Given the description of an element on the screen output the (x, y) to click on. 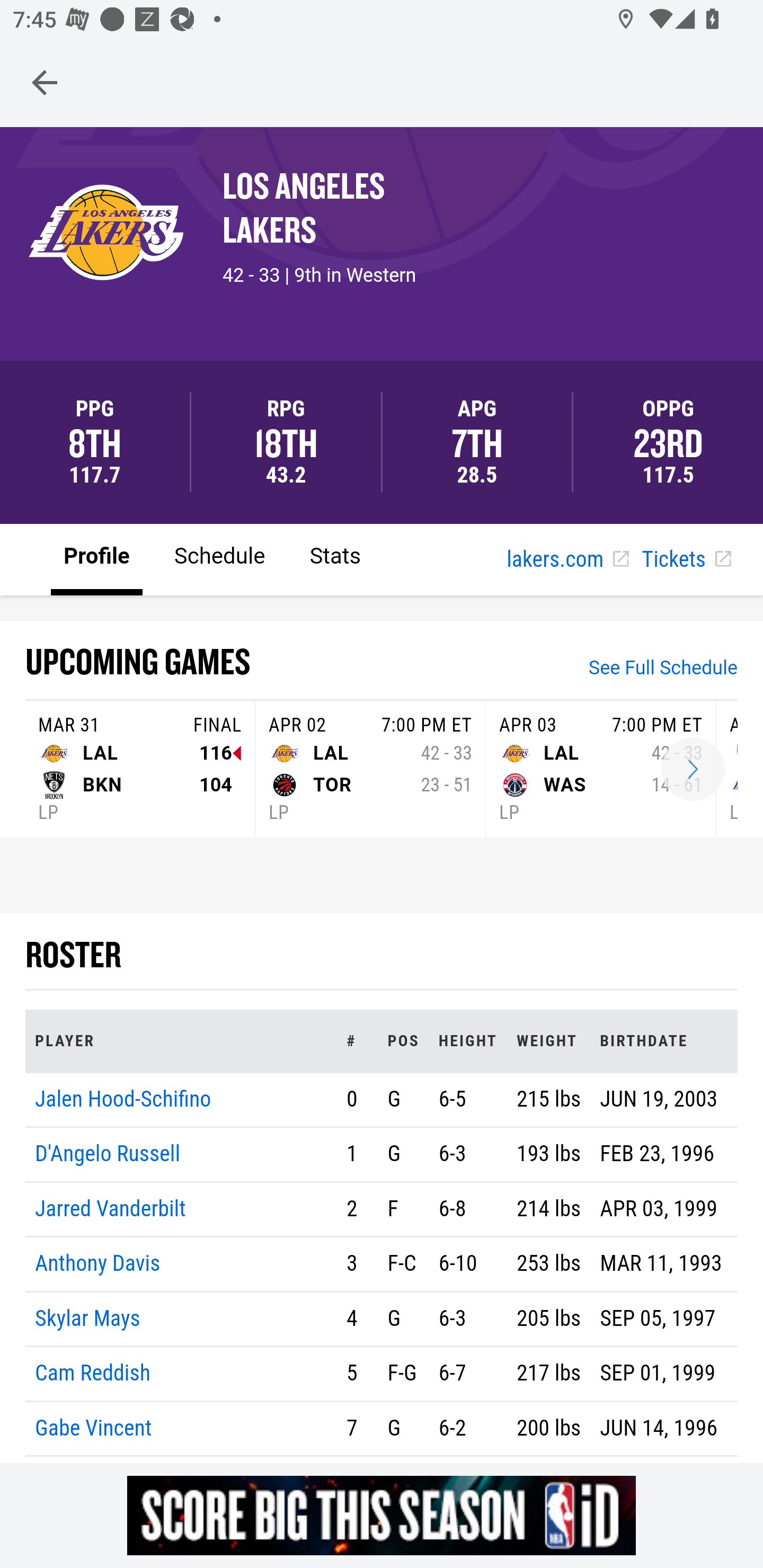
Navigate up (44, 82)
Profile (97, 558)
Schedule (219, 558)
Stats (335, 558)
lakers.com (567, 560)
Tickets (685, 560)
See Full Schedule (662, 669)
Match-up Scores (692, 769)
Jalen Hood-Schifino (123, 1098)
D'Angelo Russell (108, 1154)
Jarred Vanderbilt (110, 1207)
Anthony Davis (97, 1264)
Skylar Mays (88, 1317)
Cam Reddish (93, 1374)
Gabe Vincent (93, 1427)
g5nqqygr7owph (381, 1515)
